Given the description of an element on the screen output the (x, y) to click on. 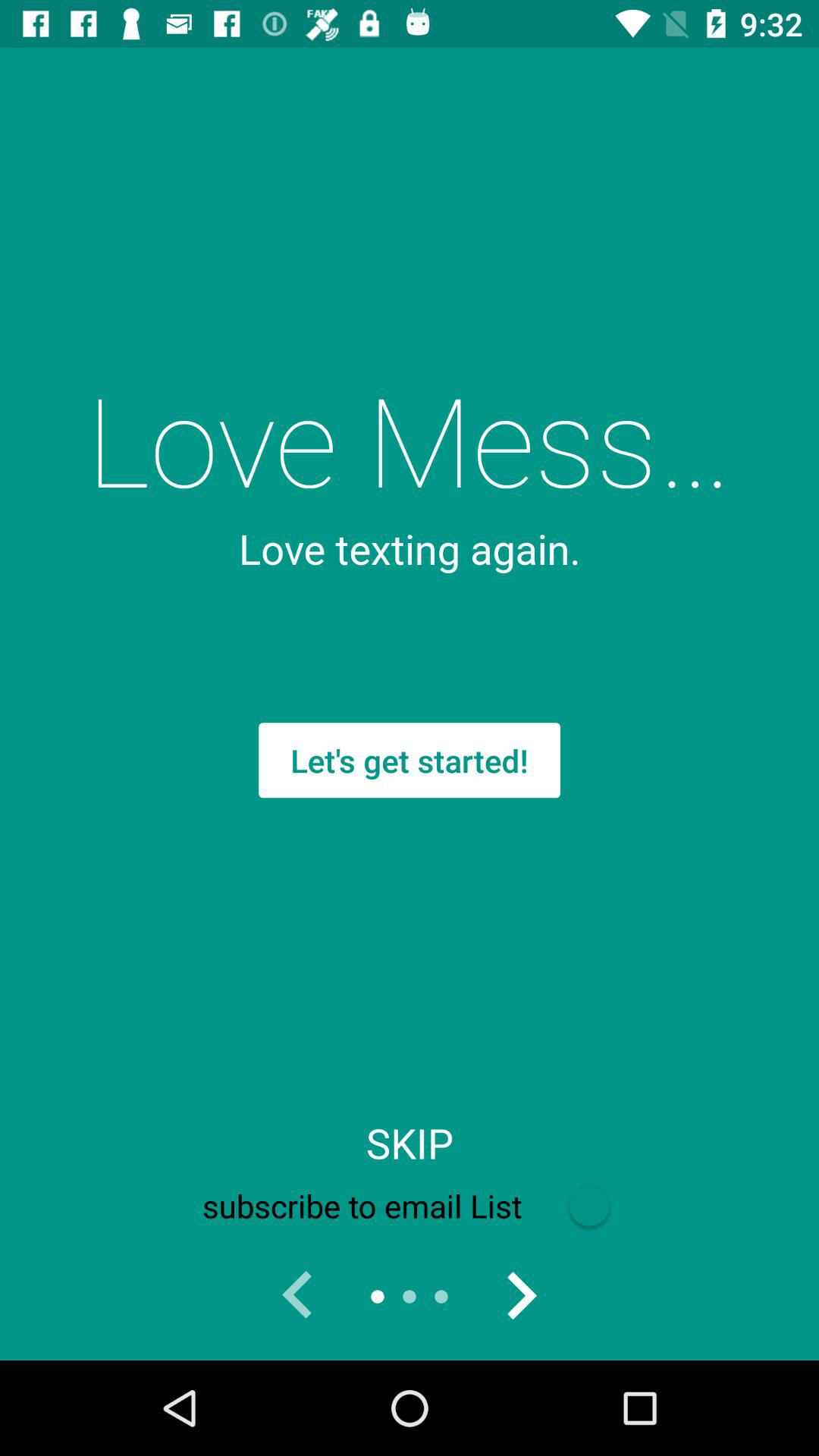
turn on icon below subscribe to email item (520, 1296)
